Given the description of an element on the screen output the (x, y) to click on. 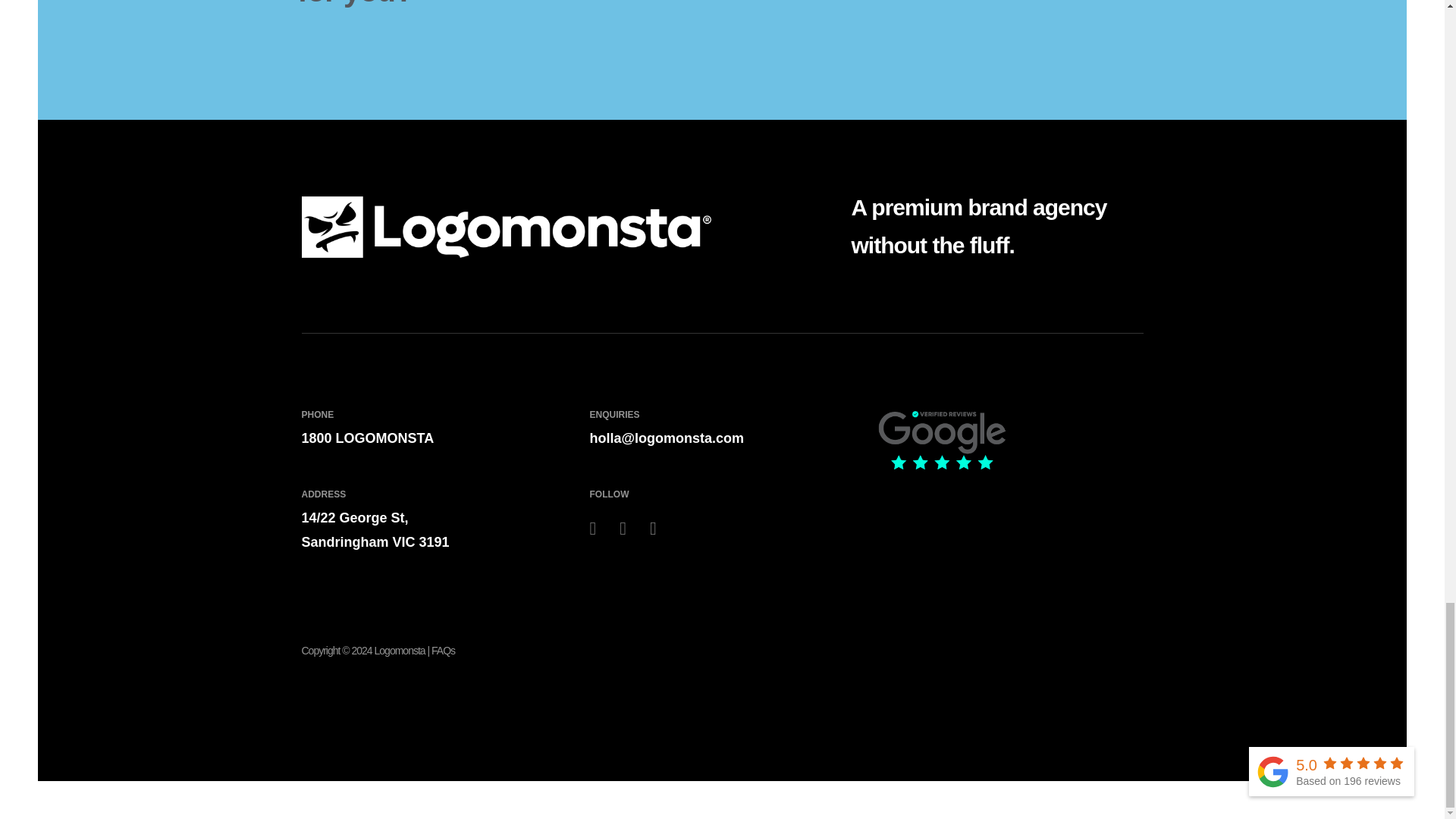
1800 LOGOMONSTA (434, 437)
FAQs (442, 650)
